Given the description of an element on the screen output the (x, y) to click on. 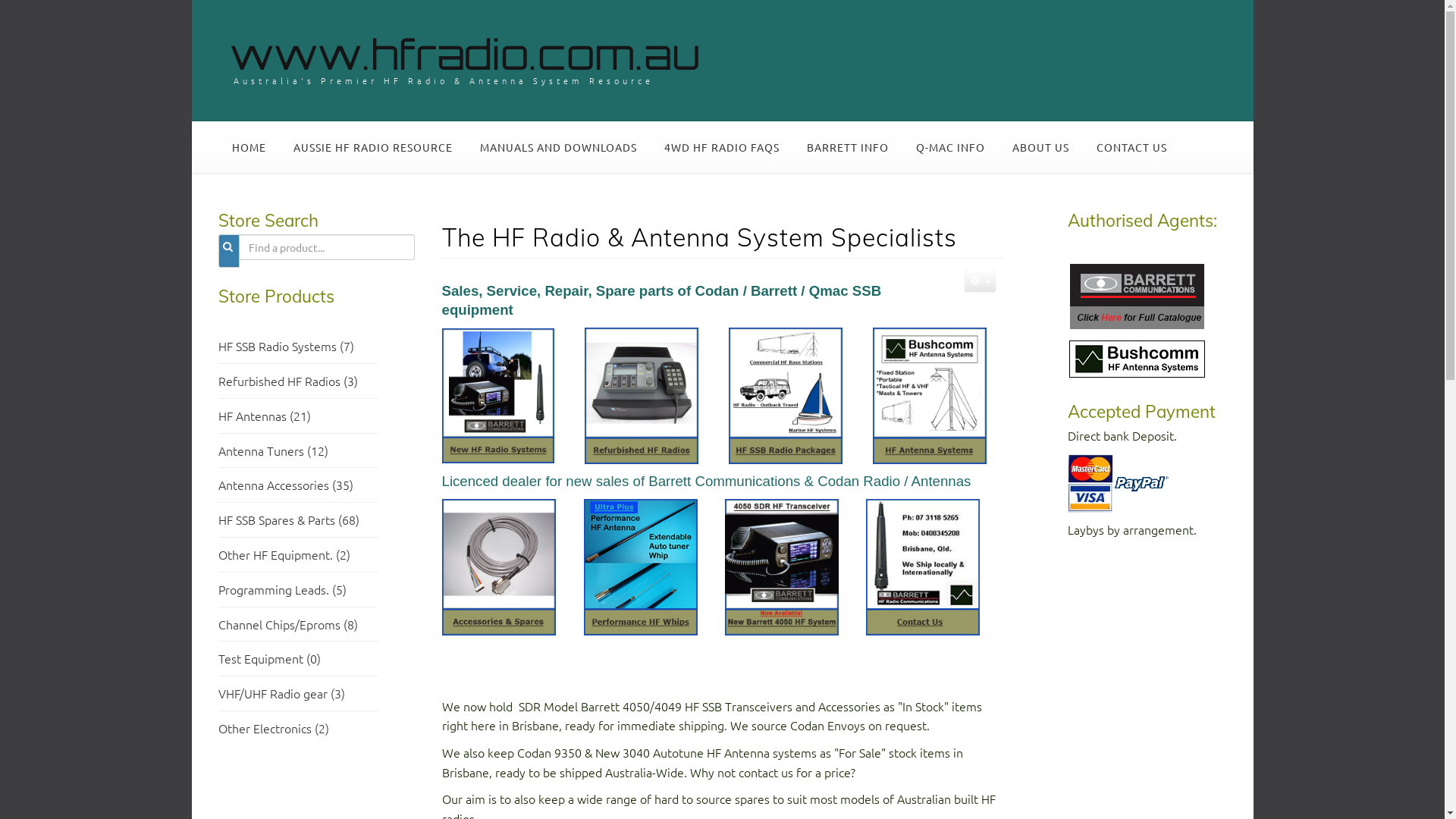
4WD HF RADIO FAQS Element type: text (721, 146)
ABOUT US Element type: text (1039, 146)
MANUALS AND DOWNLOADS Element type: text (557, 146)
Barrett HF Radio Information catalogue Element type: hover (1136, 293)
Antenna Tuners (12) Element type: text (273, 450)
New HF Radio Systems Element type: hover (497, 393)
Antenna Accessories (35) Element type: text (285, 484)
HOME Element type: text (248, 146)
VHF/UHF Radio gear (3) Element type: text (281, 692)
HF SSB Spares & Parts (68) Element type: text (288, 519)
Powerstick  Performance Autotuner Antenna Element type: hover (640, 565)
Contact Us Element type: hover (922, 565)
HF Antennas (21) Element type: text (264, 415)
Programming Leads. (5) Element type: text (282, 588)
Refurbished & Used HF Radios Element type: hover (640, 393)
HF SSB Radio Systems (7) Element type: text (286, 356)
Refurbished HF Radios (3) Element type: text (287, 380)
Test Equipment (0) Element type: text (269, 657)
Q-MAC INFO Element type: text (950, 146)
Complete Long Range HF Radio Packages Element type: hover (784, 393)
Other HF Equipment. (2) Element type: text (284, 554)
Barrett 4050 HF Transceiver Element type: hover (781, 564)
Channel Chips/Eproms (8) Element type: text (287, 623)
Bushcomm Australia HF Antenna Systems Element type: hover (928, 393)
HF Radio Codan-Barrett- Qmac Spares & Parts Element type: hover (498, 564)
www.hfradio.com.au Element type: text (464, 53)
Other Electronics (2) Element type: text (273, 727)
BARRETT INFO Element type: text (847, 146)
CONTACT US Element type: text (1131, 146)
AUSSIE HF RADIO RESOURCE Element type: text (372, 146)
